Given the description of an element on the screen output the (x, y) to click on. 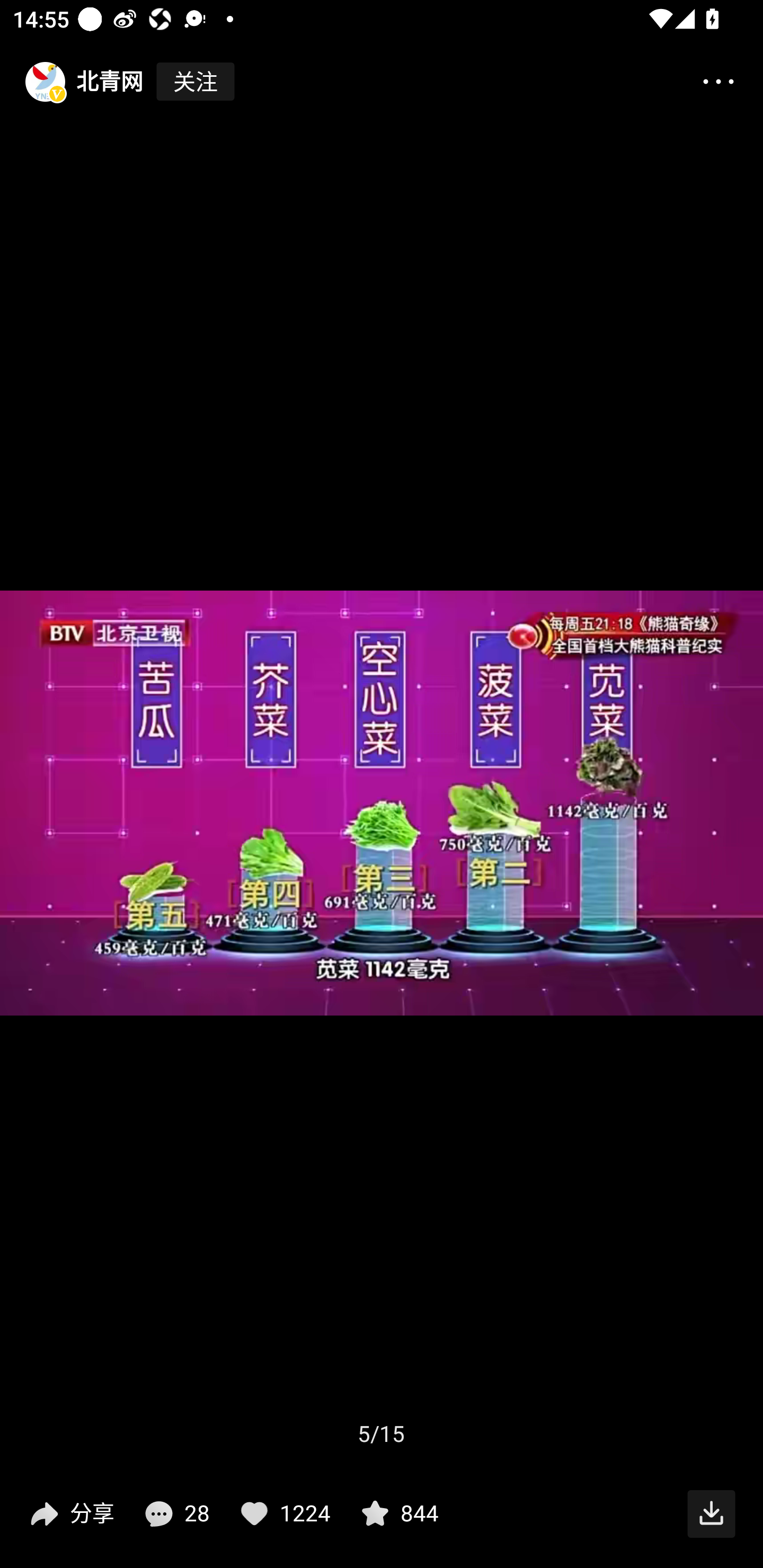
北青网 关注 关注 (117, 81)
关注 (195, 81)
分享 (69, 1513)
评论,28 28 (174, 1513)
收藏,844 844 (397, 1513)
